Given the description of an element on the screen output the (x, y) to click on. 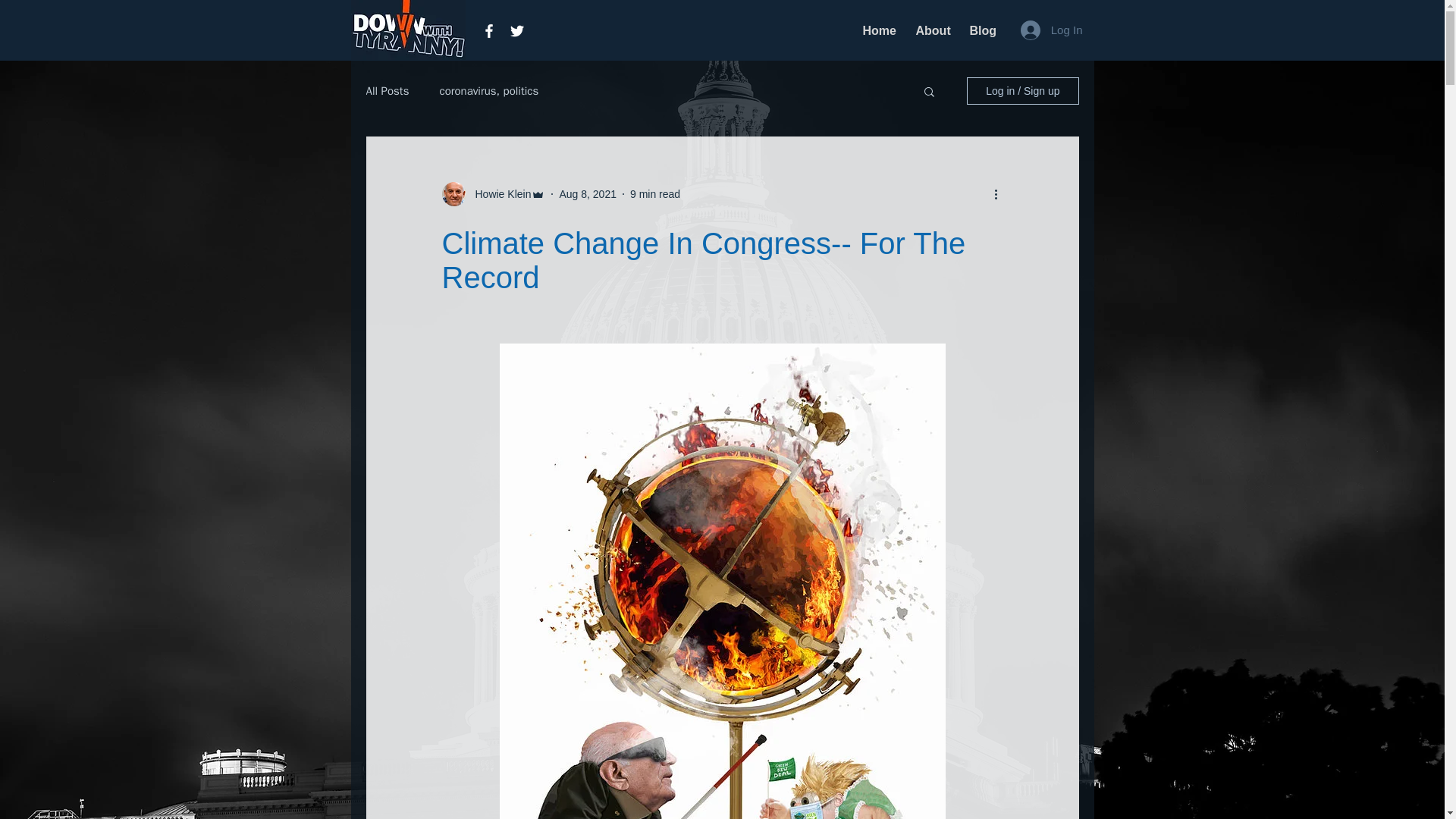
About (931, 30)
Log In (1051, 29)
Howie Klein (492, 193)
Aug 8, 2021 (587, 193)
All Posts (387, 90)
9 min read (654, 193)
Howie Klein (498, 194)
coronavirus, politics (488, 90)
Blog (981, 30)
Home (877, 30)
